Given the description of an element on the screen output the (x, y) to click on. 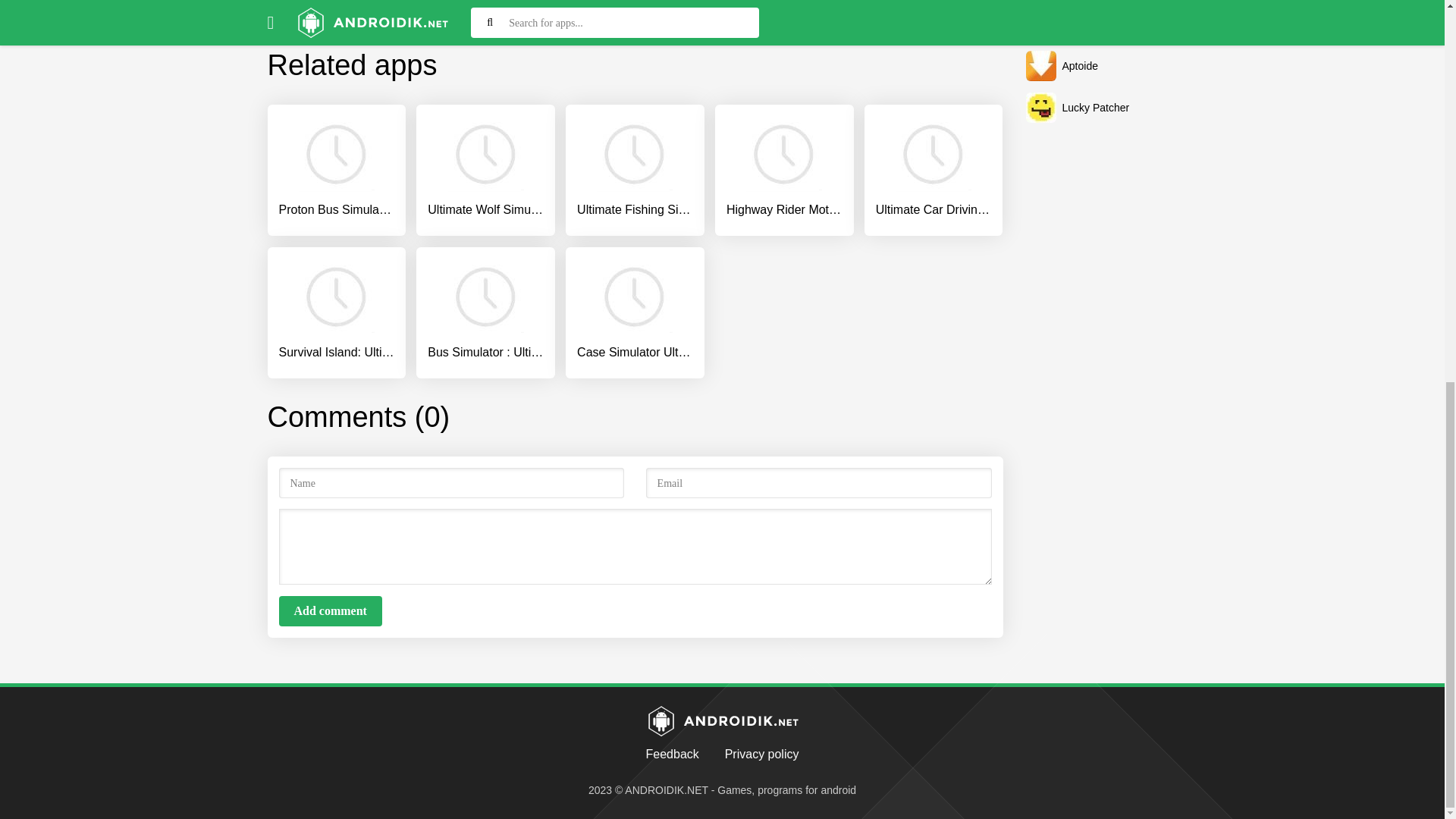
Ultimate Car Driving Simulator (933, 167)
Ultimate Wolf Simulator 2 (485, 167)
Ultimate Fishing Simulator (634, 167)
GameGuardian (1100, 24)
Highway Rider Motorcycle Racer (784, 167)
Aptoide (1100, 65)
Lucky Patcher (1100, 107)
Download from Google Play (635, 19)
